Given the description of an element on the screen output the (x, y) to click on. 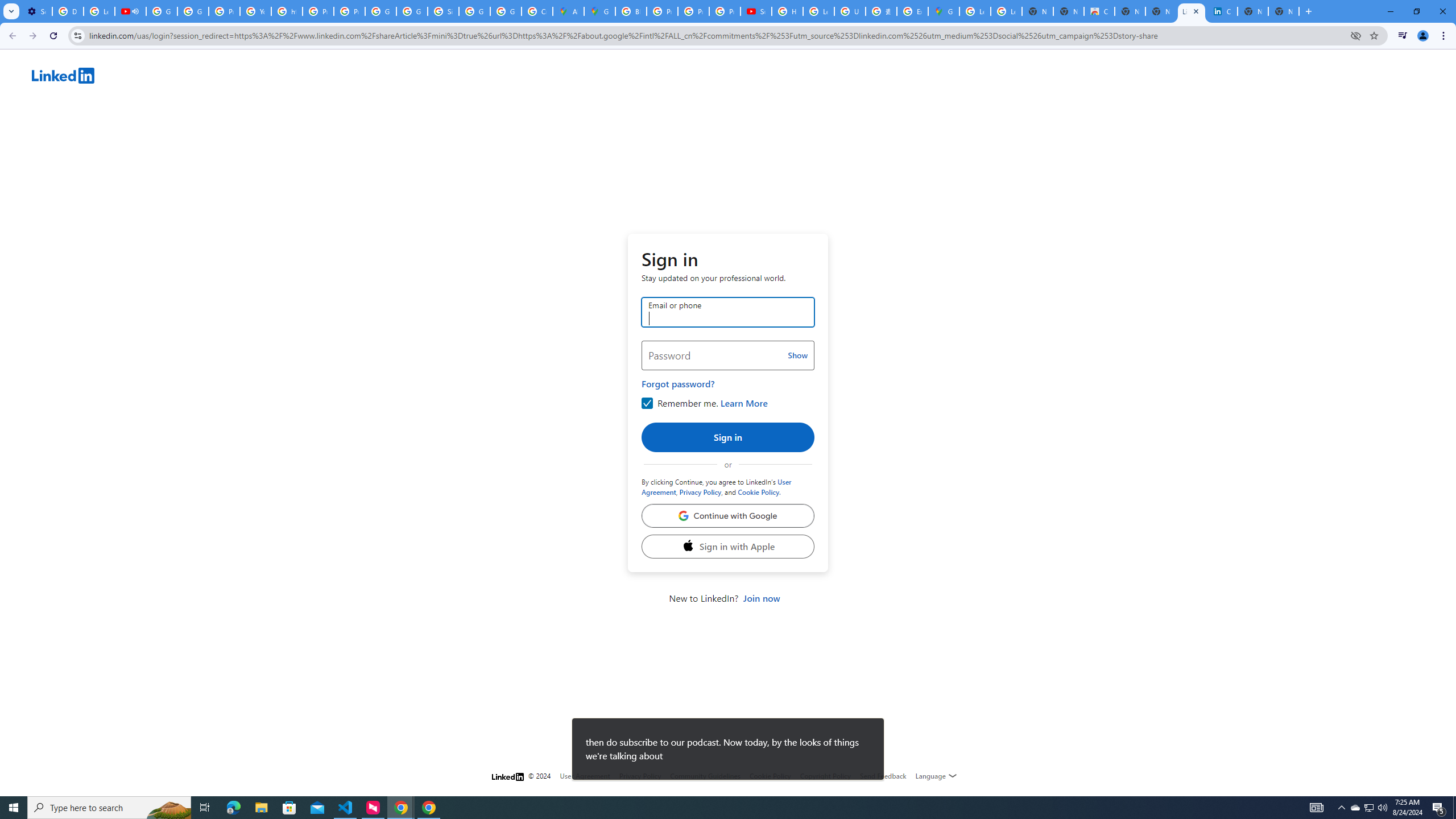
YouTube (255, 11)
Privacy Help Center - Policies Help (318, 11)
Google Account Help (161, 11)
Google Maps (599, 11)
Privacy Help Center - Policies Help (693, 11)
